Given the description of an element on the screen output the (x, y) to click on. 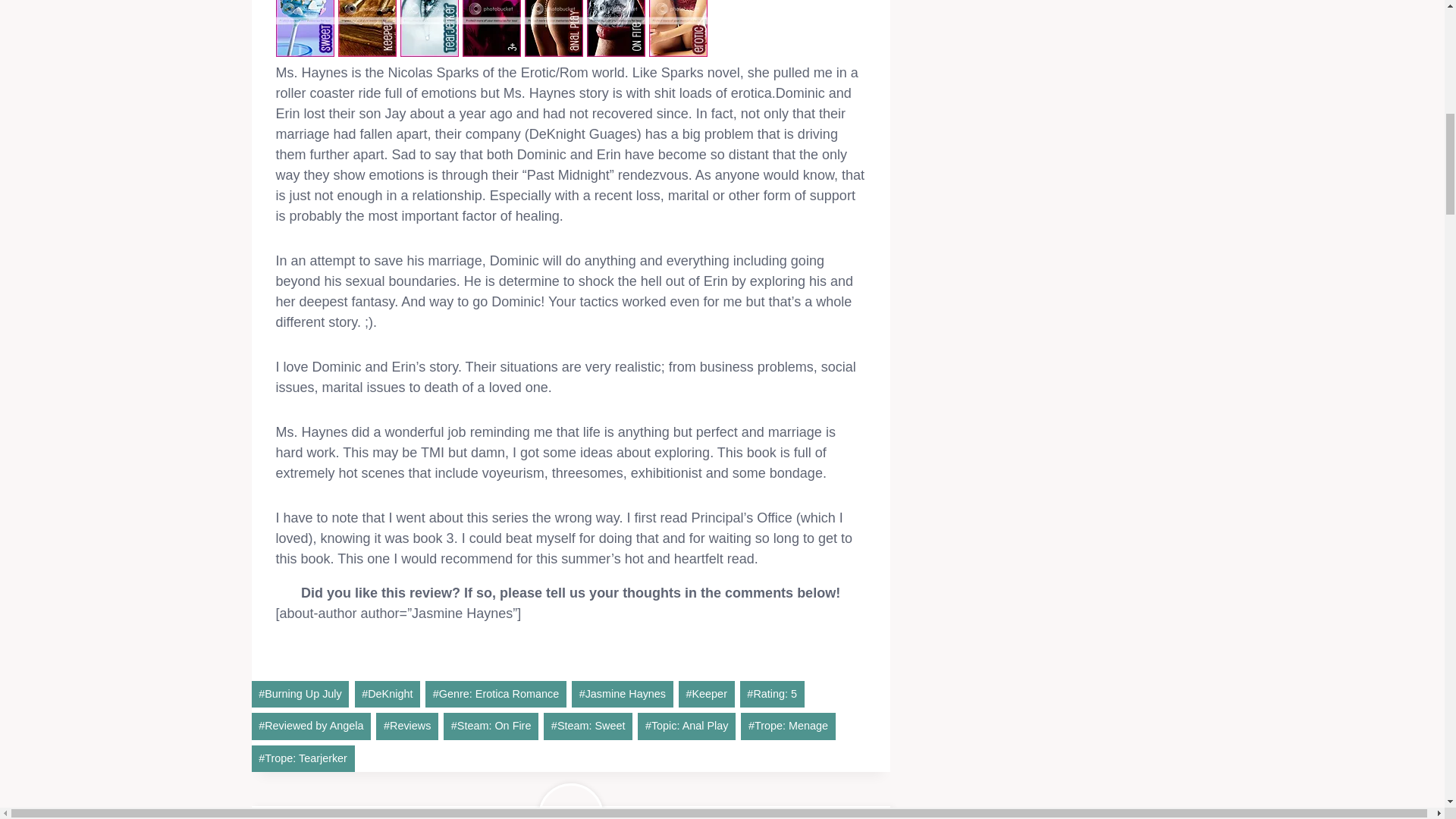
Jasmine Haynes (622, 693)
DeKnight (387, 693)
Rating: 5 (772, 693)
Reviews (406, 725)
Keeper (706, 693)
Genre: Erotica Romance (495, 693)
Steam: On Fire (491, 725)
Trope: Menage (787, 725)
Topic: Anal Play (686, 725)
Burning Up July (300, 693)
Steam: Sweet (587, 725)
Reviewed by Angela (311, 725)
